Given the description of an element on the screen output the (x, y) to click on. 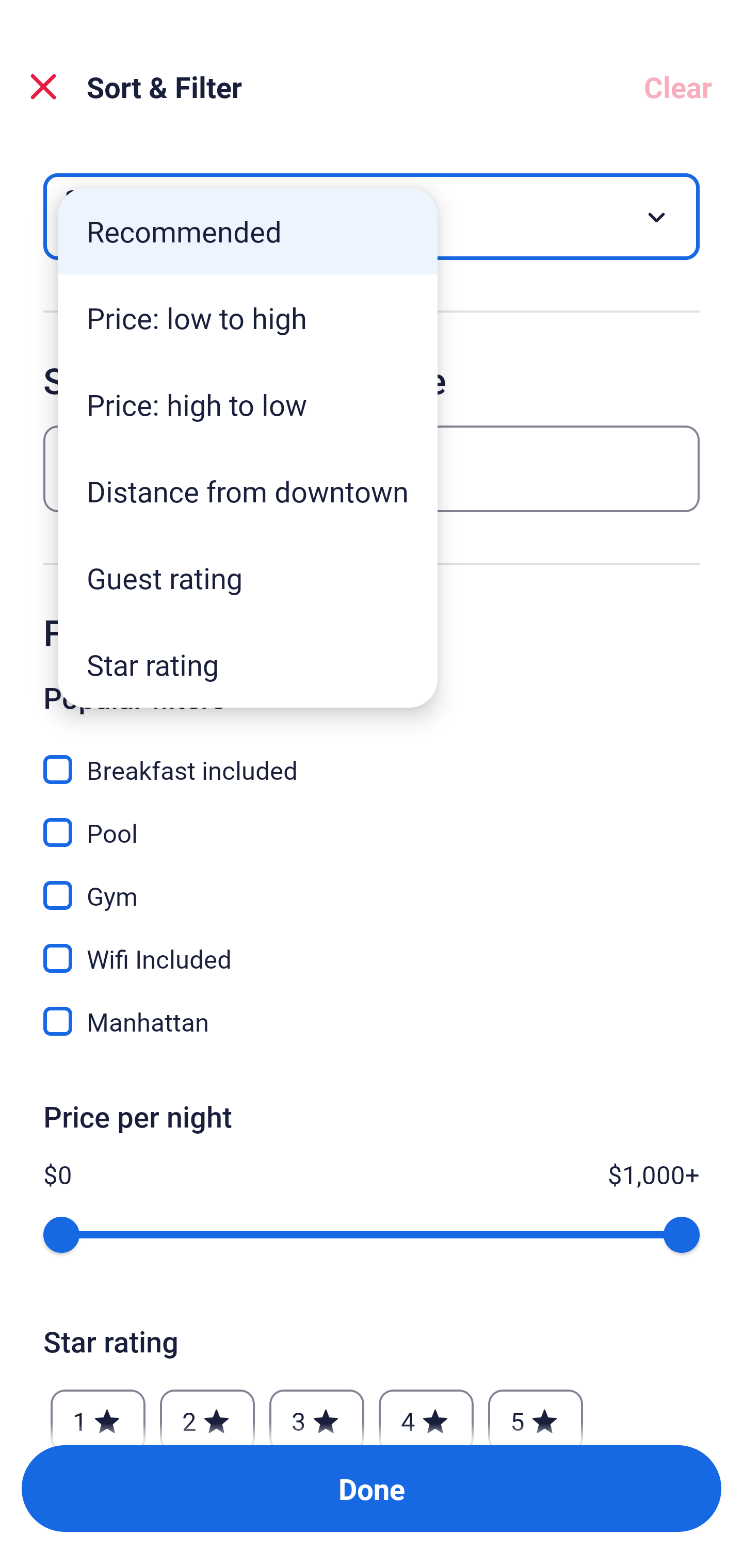
Price: low to high (247, 317)
Price: high to low (247, 404)
Distance from downtown (247, 491)
Guest rating (247, 577)
Star rating (247, 663)
